Given the description of an element on the screen output the (x, y) to click on. 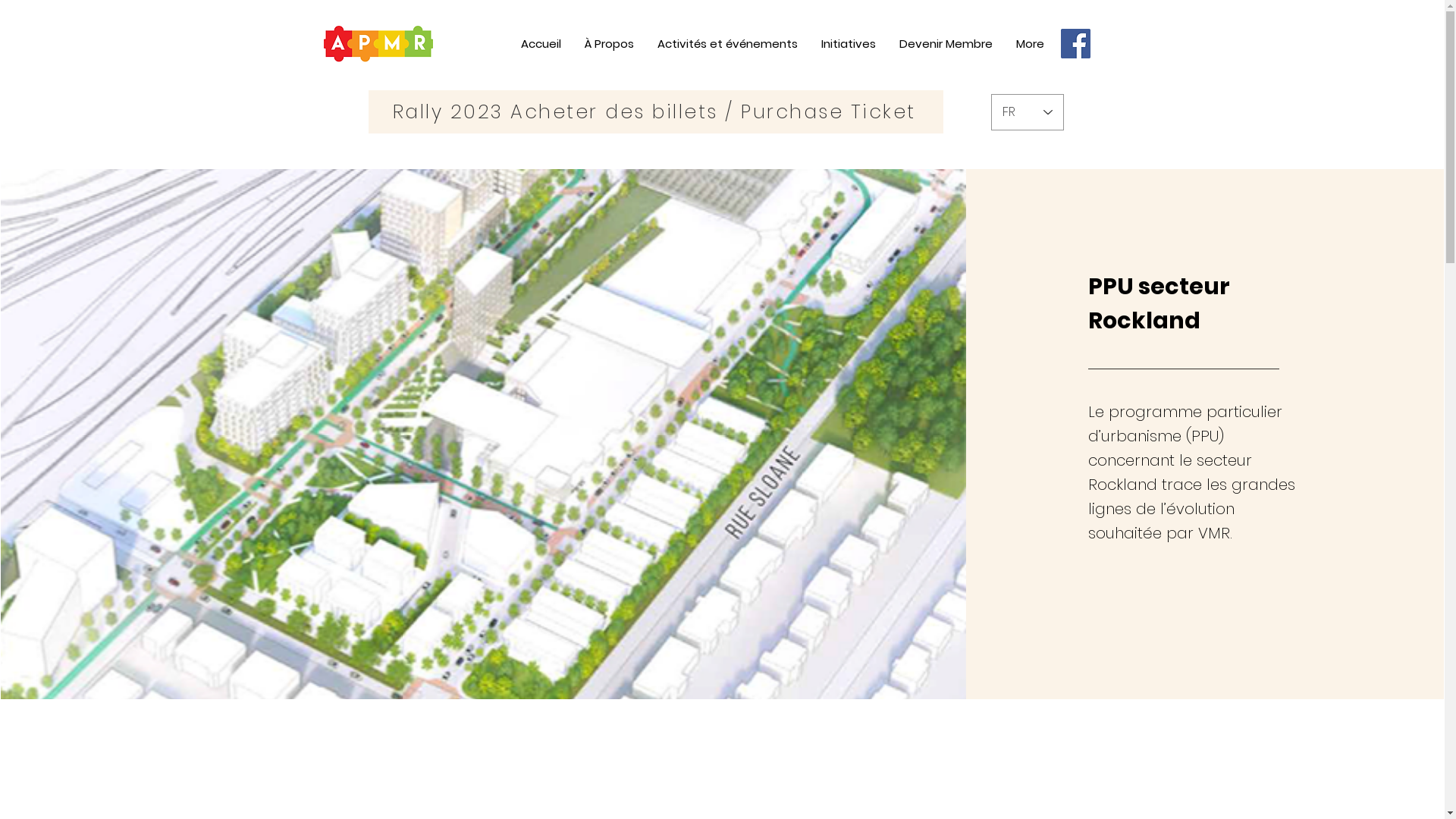
Initiatives Element type: text (847, 43)
Rally 2023 Acheter des billets / Purchase Ticket Element type: text (655, 111)
Accueil Element type: text (539, 43)
Devenir Membre Element type: text (945, 43)
